Given the description of an element on the screen output the (x, y) to click on. 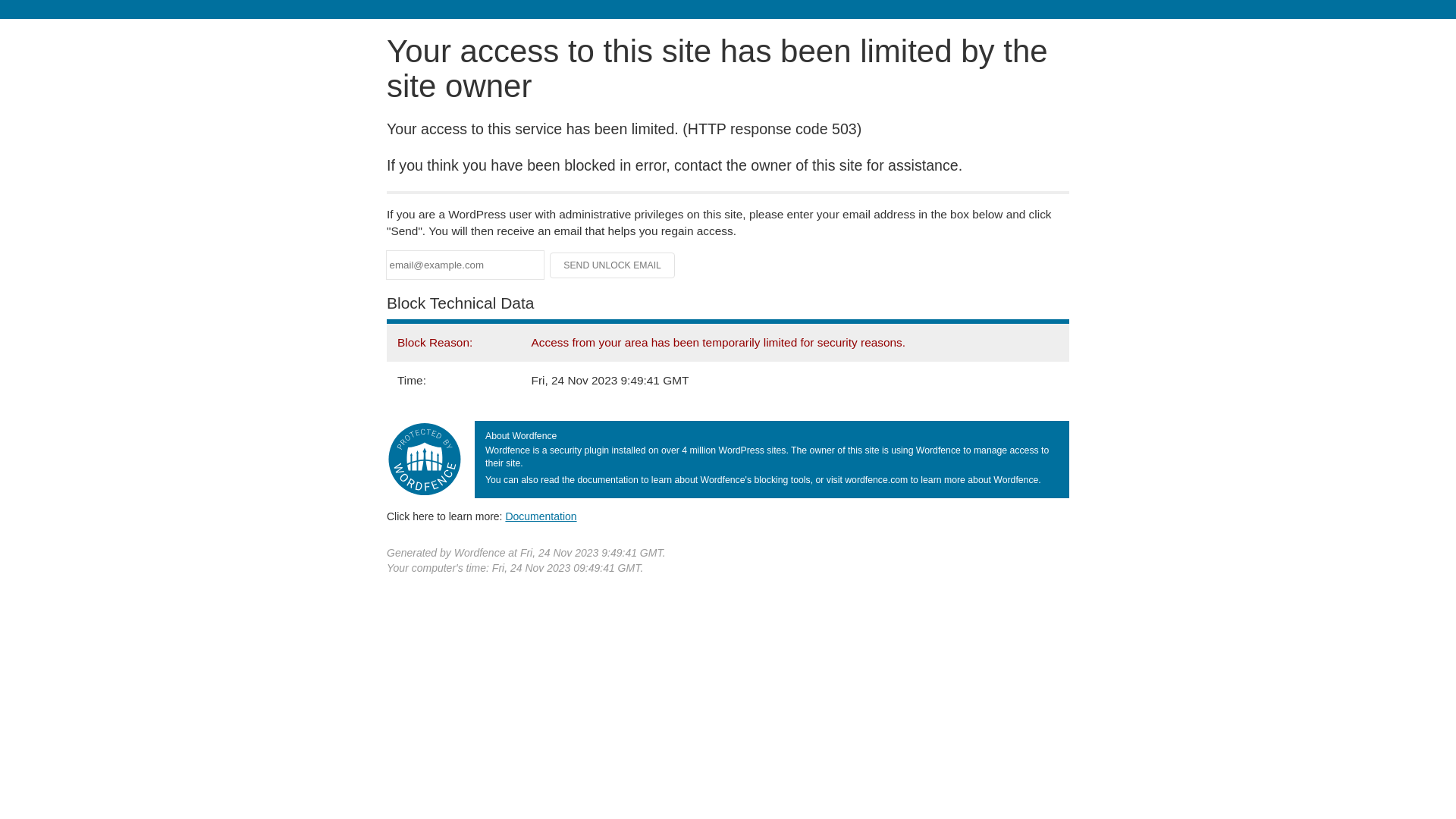
Send Unlock Email Element type: text (612, 265)
Documentation Element type: text (540, 516)
